Given the description of an element on the screen output the (x, y) to click on. 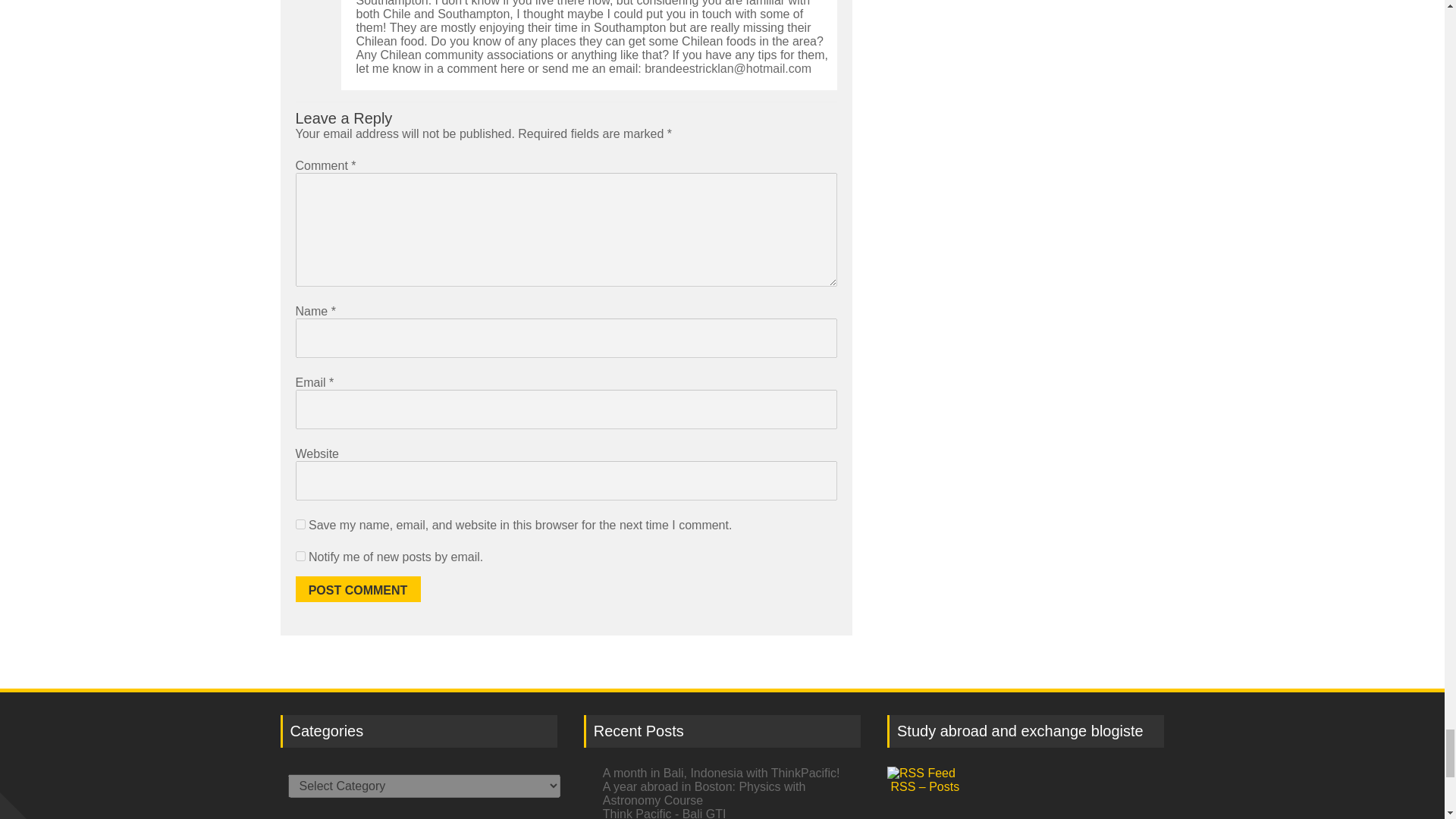
Post Comment (357, 588)
Subscribe to posts (1024, 779)
yes (300, 524)
subscribe (300, 556)
